Given the description of an element on the screen output the (x, y) to click on. 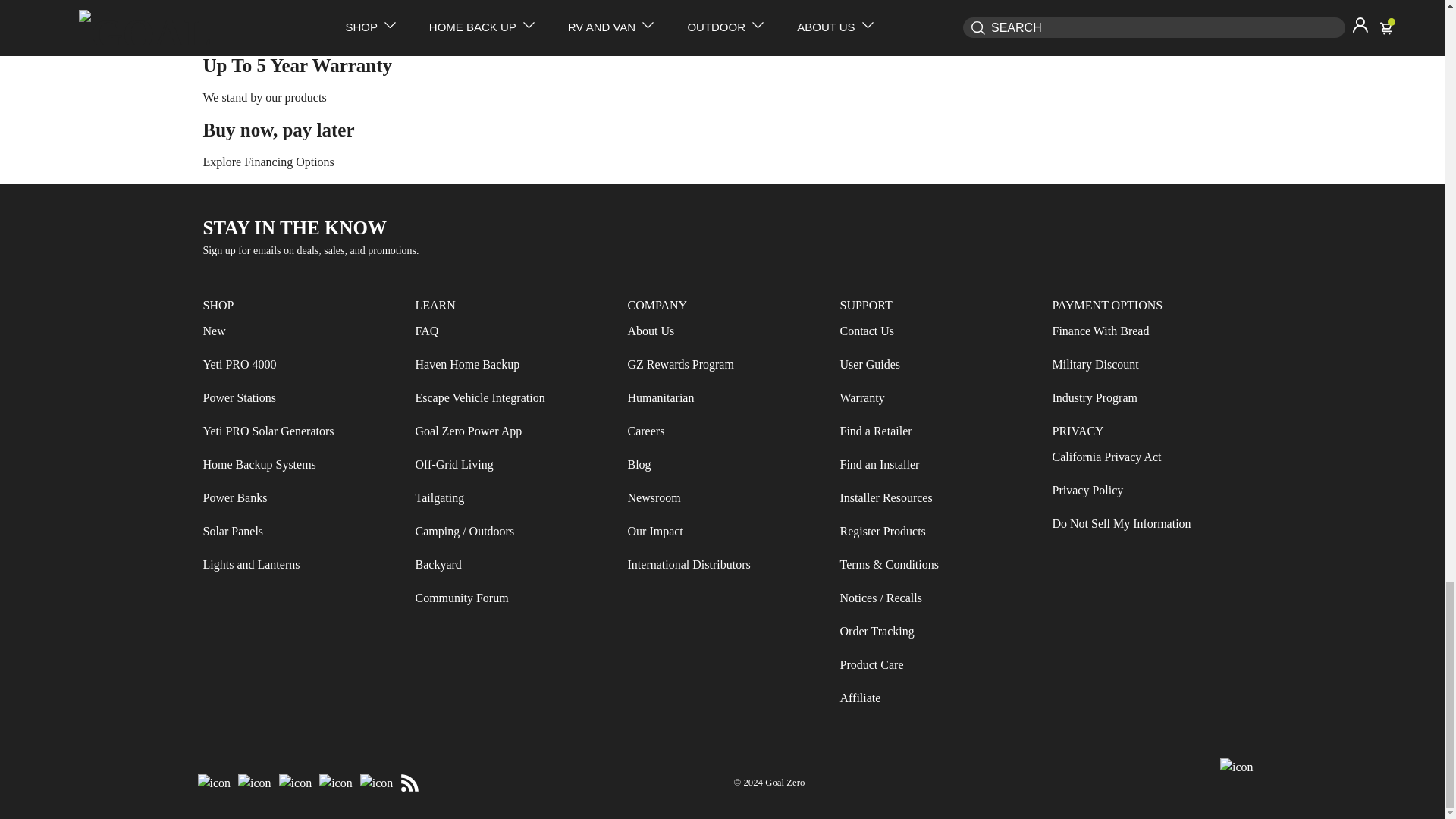
Goal Zero on YouTube (336, 782)
Goal Zero on Pinterest (377, 782)
Goal Zero on Facebook (213, 782)
Goal Zero on Twitter (295, 782)
Goal Zero on Instagram (254, 782)
